Given the description of an element on the screen output the (x, y) to click on. 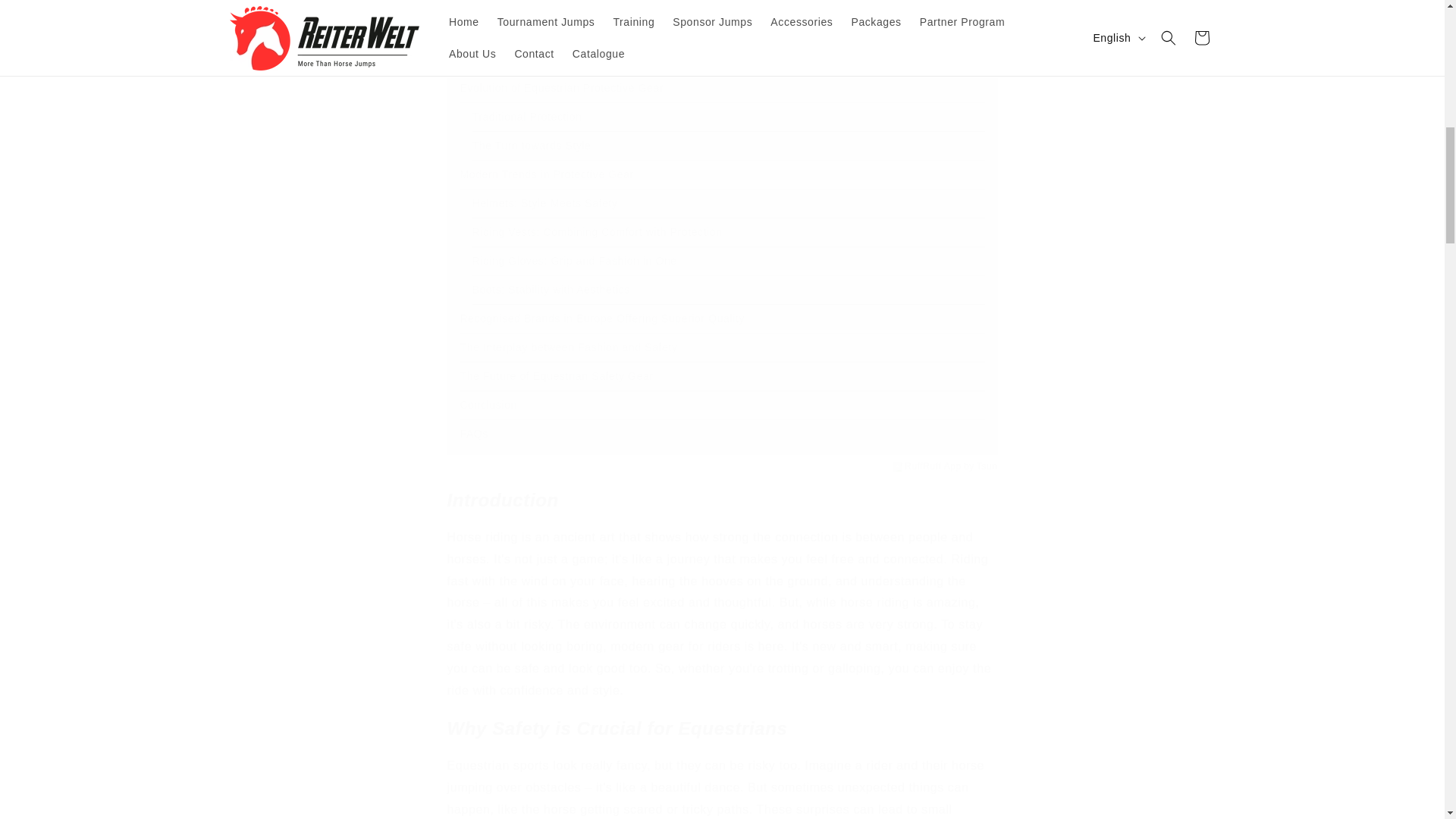
Tsun (986, 467)
RuffRuff App (932, 467)
Introduction  (492, 30)
